Given the description of an element on the screen output the (x, y) to click on. 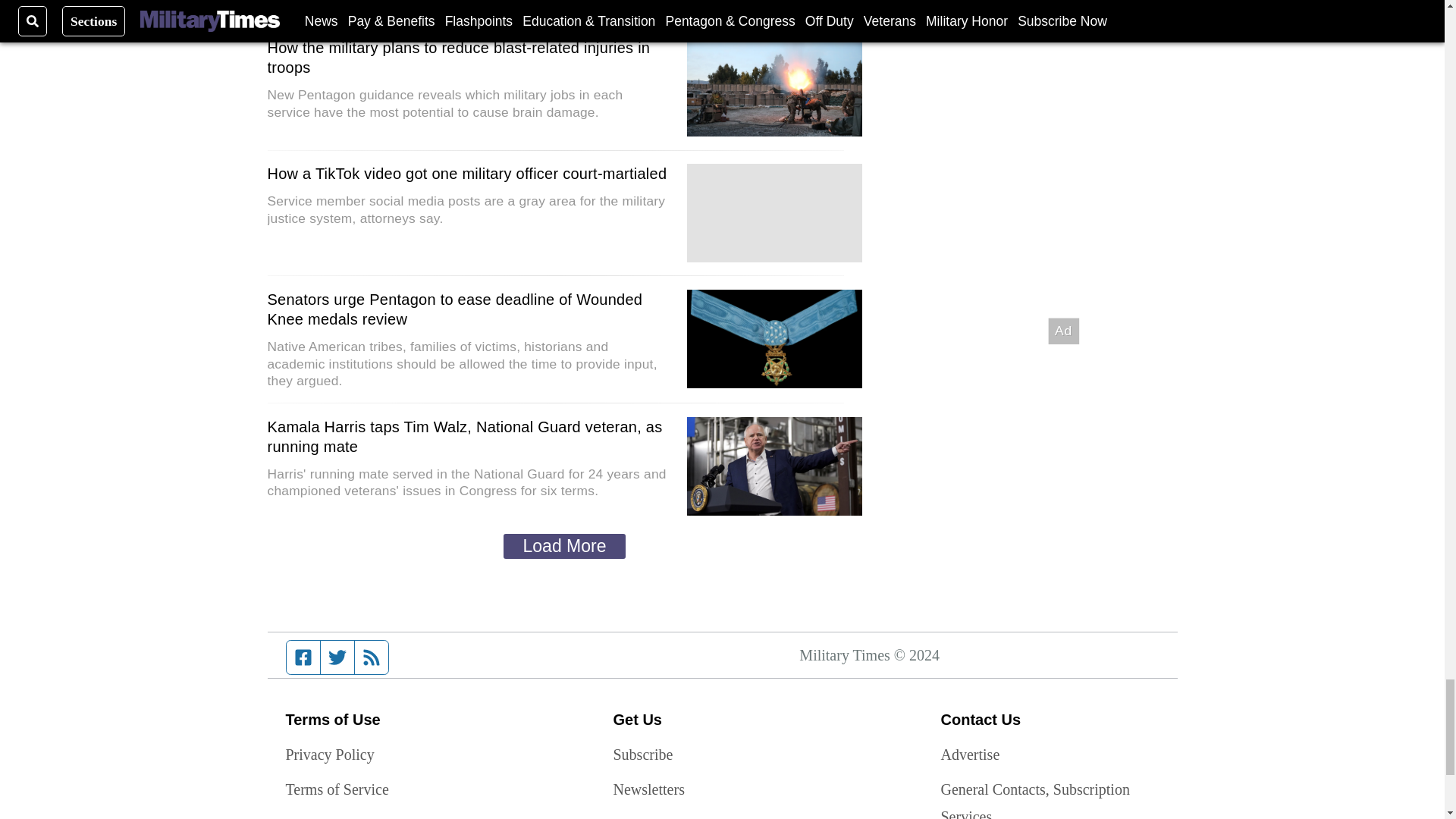
RSS feed (371, 656)
Twitter feed (336, 656)
Facebook page (303, 656)
YouTube video player (774, 212)
